Given the description of an element on the screen output the (x, y) to click on. 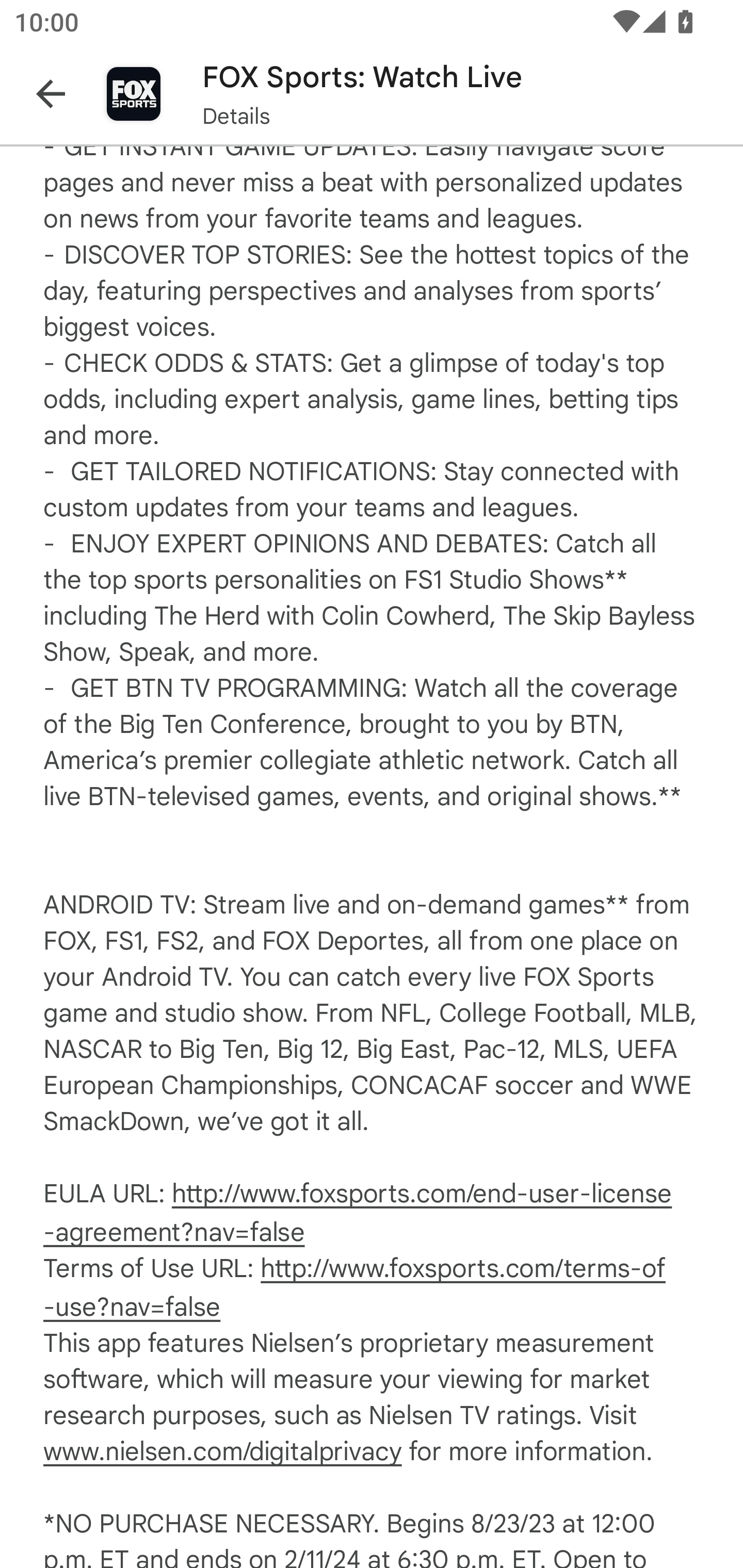
Navigate up (50, 93)
